Given the description of an element on the screen output the (x, y) to click on. 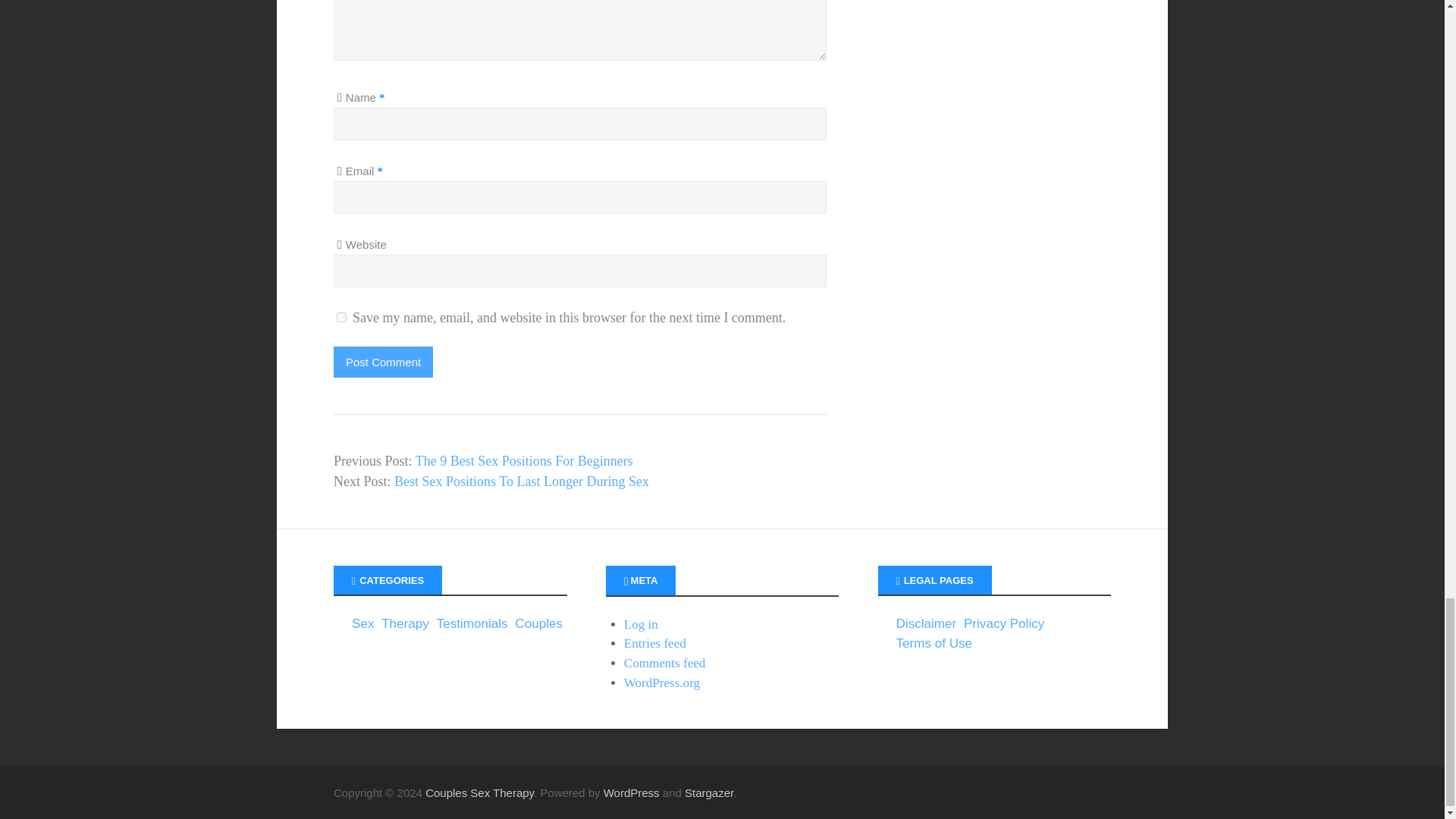
Post Comment (382, 361)
Best Sex Positions To Last Longer During Sex (521, 481)
The 9 Best Sex Positions For Beginners (523, 460)
yes (341, 317)
Post Comment (382, 361)
